Given the description of an element on the screen output the (x, y) to click on. 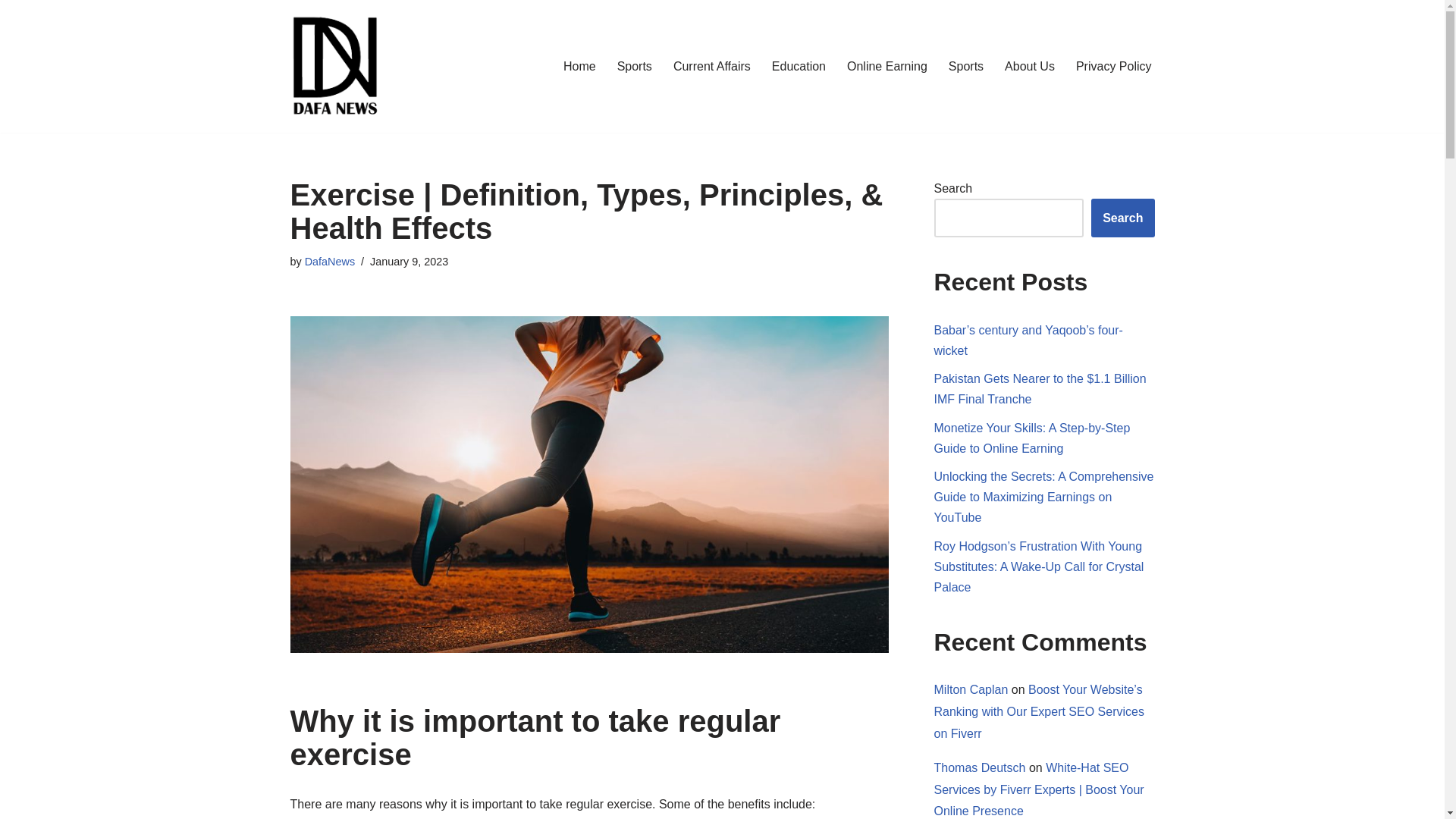
Skip to content (11, 31)
Education (798, 66)
Posts by DafaNews (329, 261)
Sports (634, 66)
Online Earning (887, 66)
DafaNews (329, 261)
About Us (1029, 66)
Sports (966, 66)
Home (579, 66)
Privacy Policy (1113, 66)
